Given the description of an element on the screen output the (x, y) to click on. 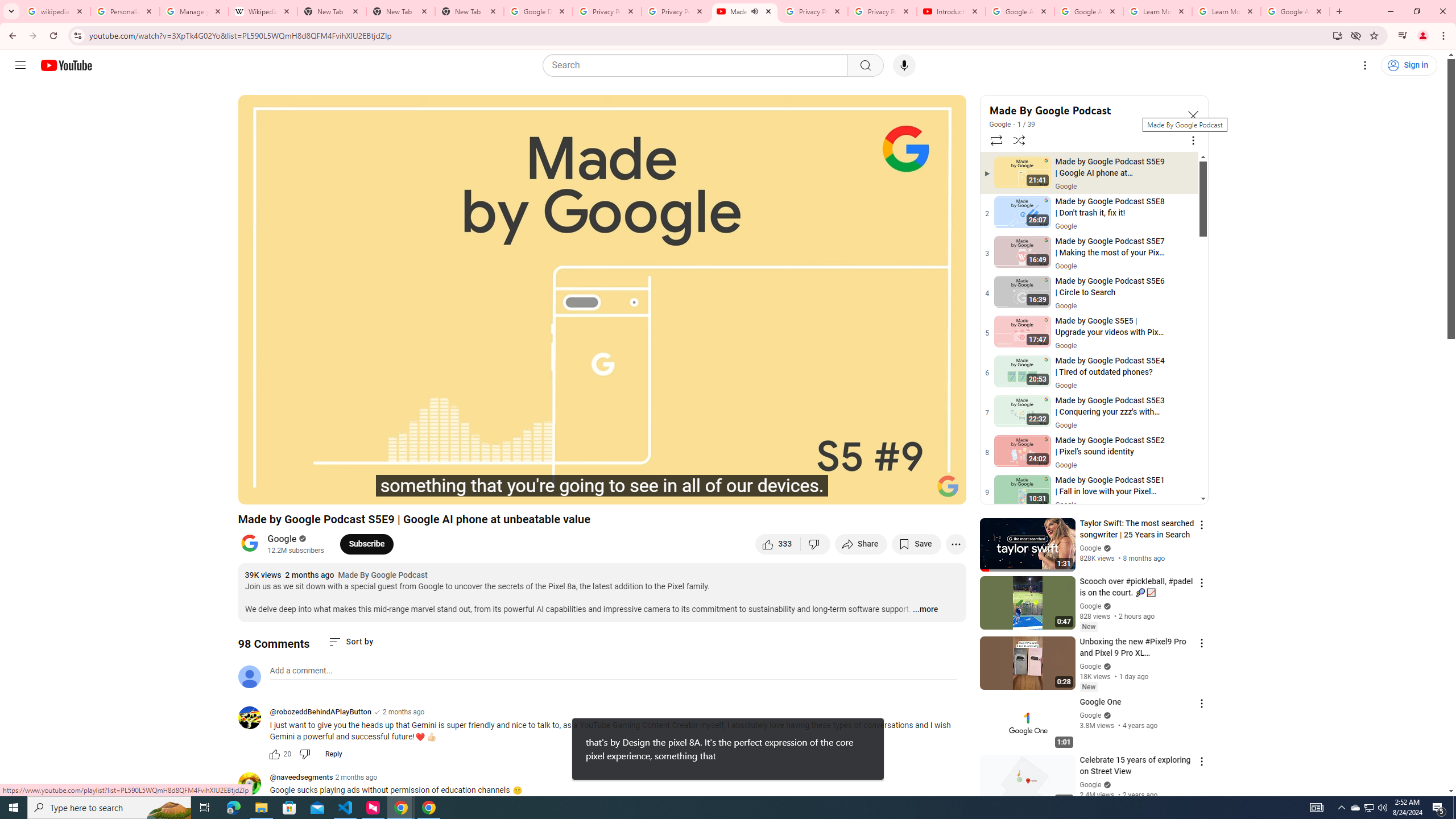
Collapse (1192, 115)
Guide (20, 65)
YouTube Home (66, 65)
@robozeddBehindAPlayButton (320, 711)
2 months ago (355, 777)
Save to playlist (915, 543)
Theater mode (t) (917, 490)
Previous (SHIFT+p) (259, 490)
Pause (k) (285, 490)
